Given the description of an element on the screen output the (x, y) to click on. 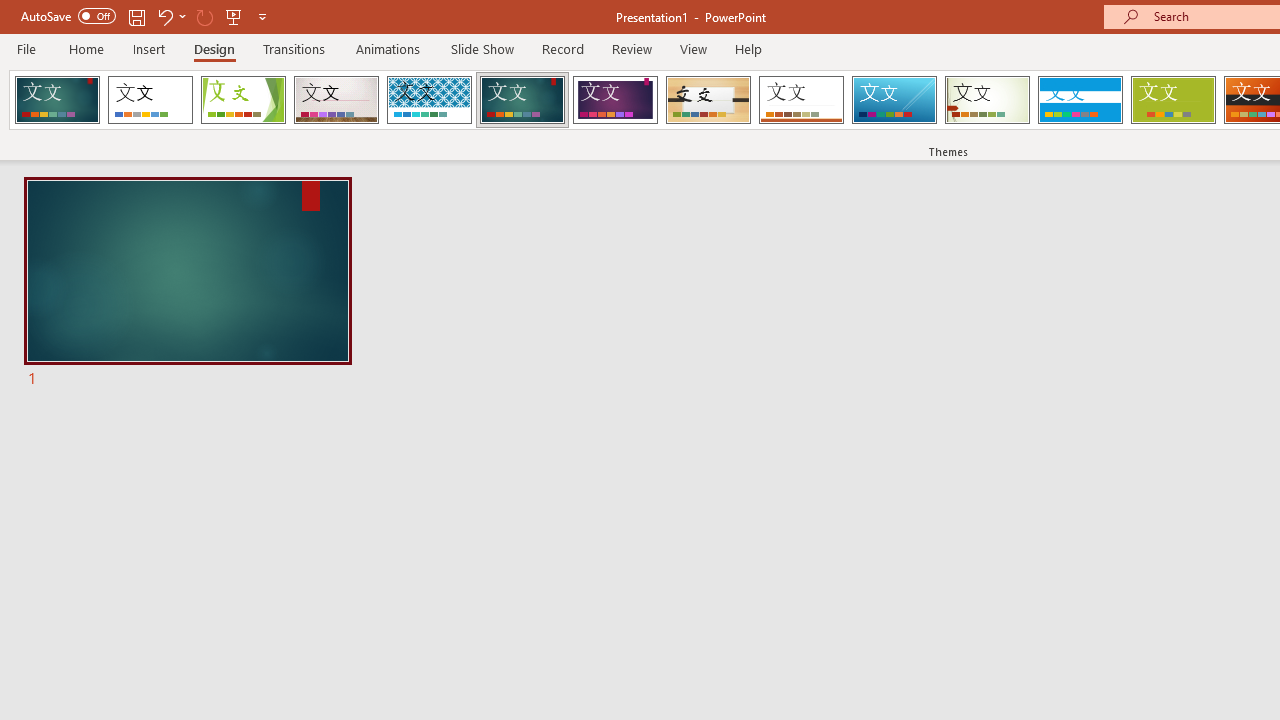
Basis Loading Preview... (1172, 100)
Banded Loading Preview... (1080, 100)
Retrospect Loading Preview... (801, 100)
Ion Loading Preview... (522, 100)
